Given the description of an element on the screen output the (x, y) to click on. 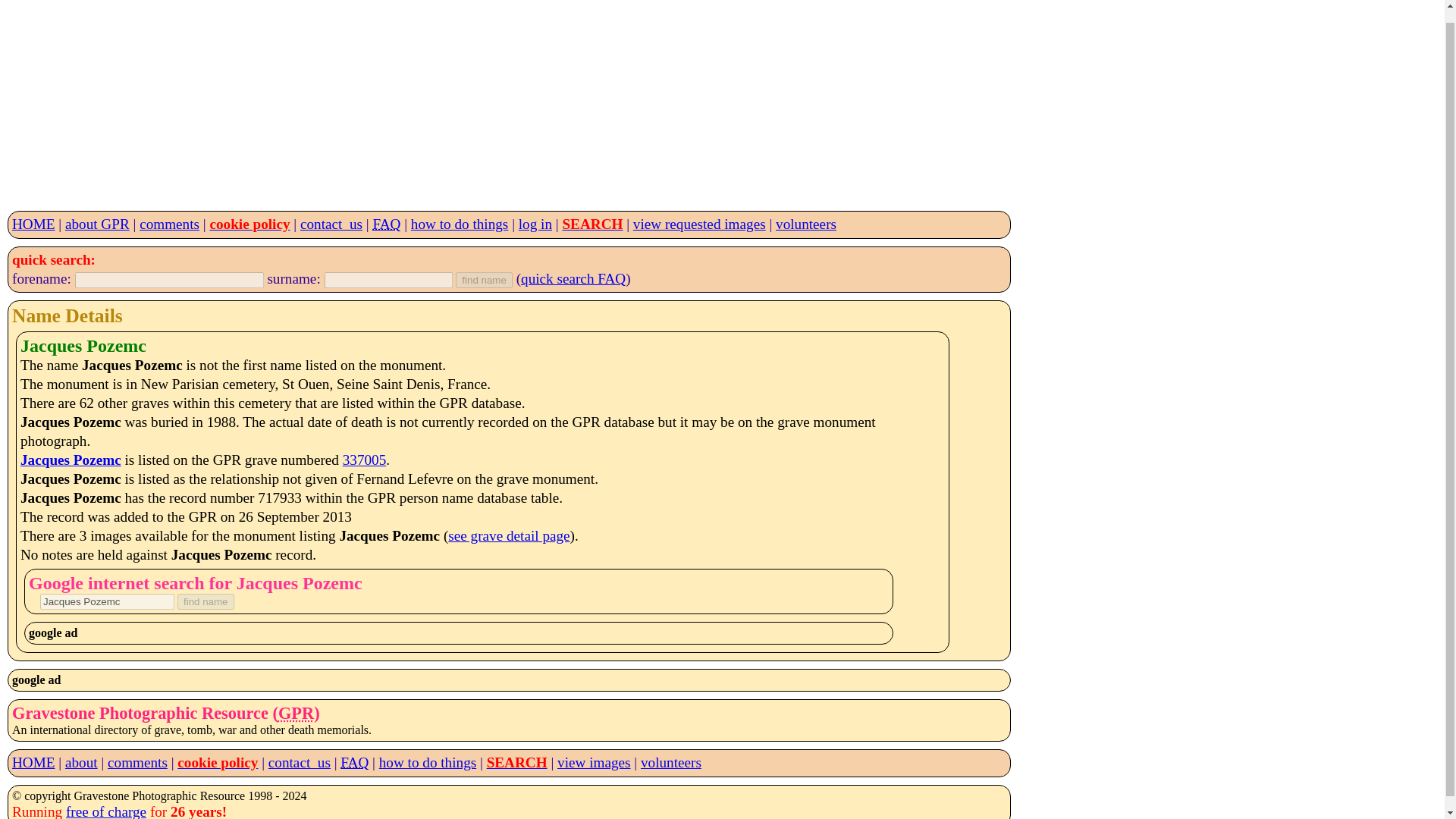
cookie policy (217, 762)
view requested images (699, 223)
HOME (33, 223)
find name (205, 601)
volunteers (670, 762)
see grave detail page (508, 535)
HOME (33, 762)
337005 (364, 459)
comments (137, 762)
view images (593, 762)
how to do things (459, 223)
Gravestone Photographic Resource (296, 712)
SEARCH (592, 223)
volunteers (805, 223)
Jacques Pozemc (107, 601)
